Given the description of an element on the screen output the (x, y) to click on. 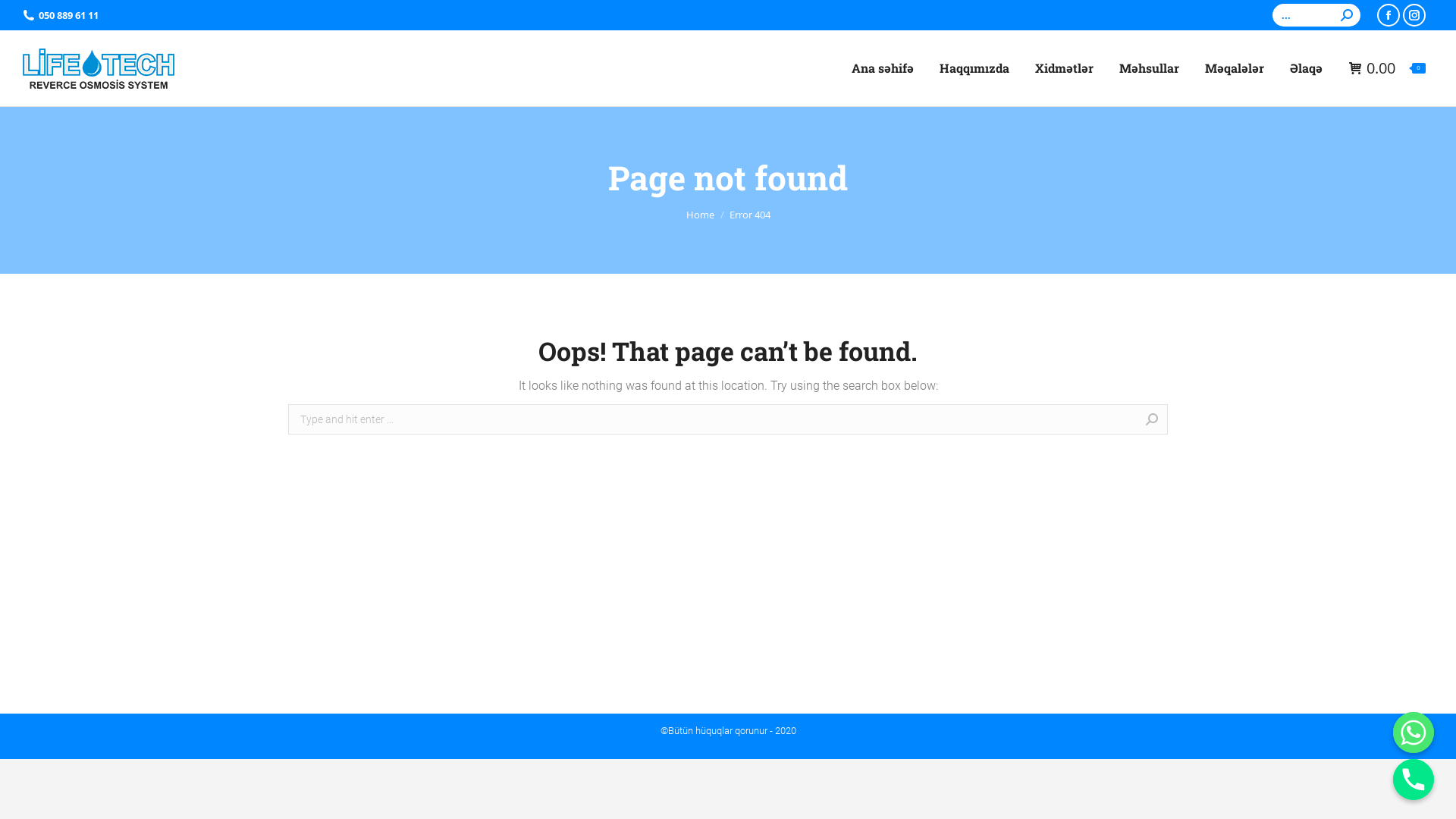
Home Element type: text (699, 214)
Go! Element type: text (23, 16)
Instagram Element type: text (1413, 14)
Facebook Element type: text (1388, 14)
Go! Element type: text (1191, 420)
